Given the description of an element on the screen output the (x, y) to click on. 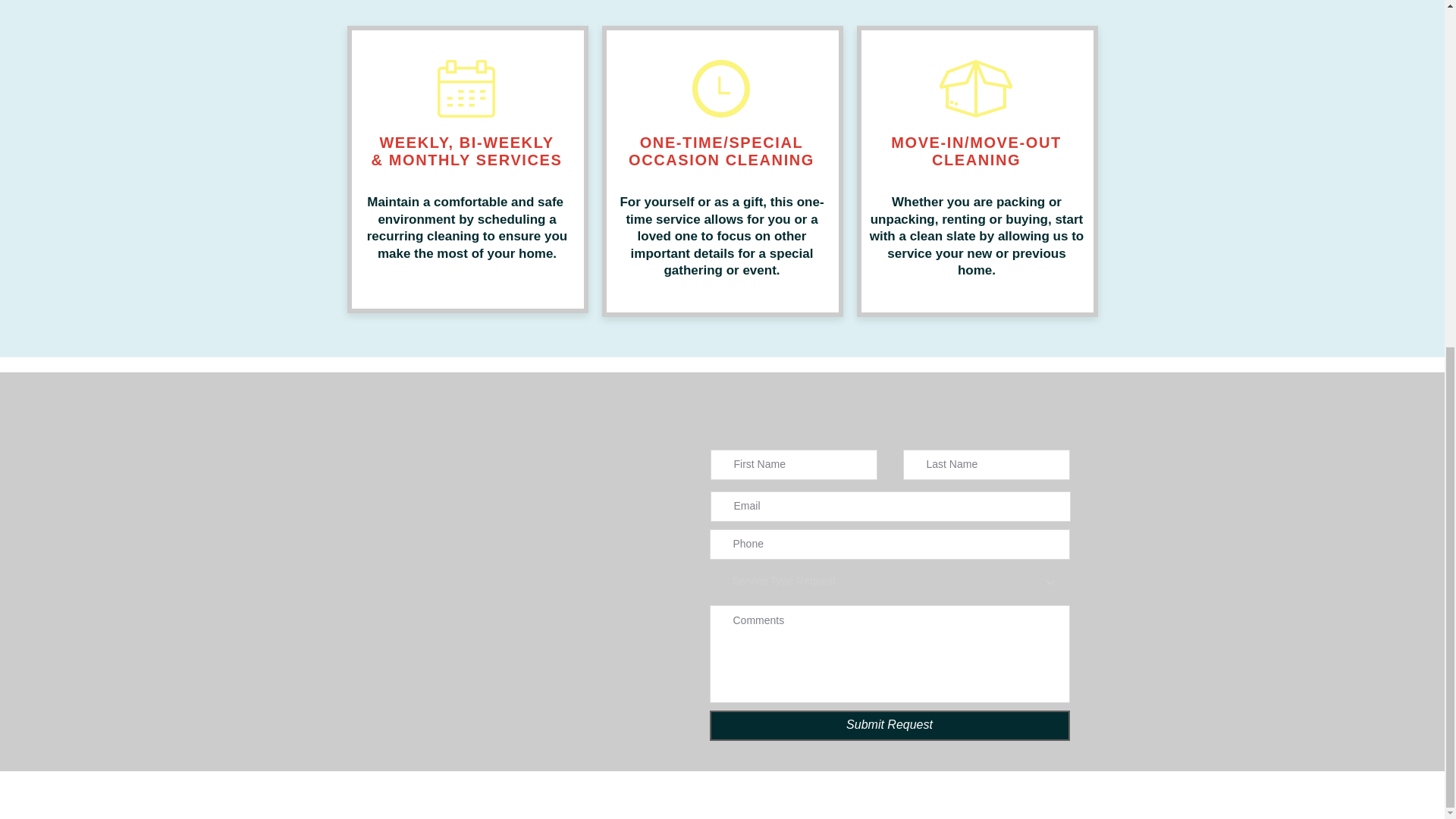
Submit Request (890, 725)
